Given the description of an element on the screen output the (x, y) to click on. 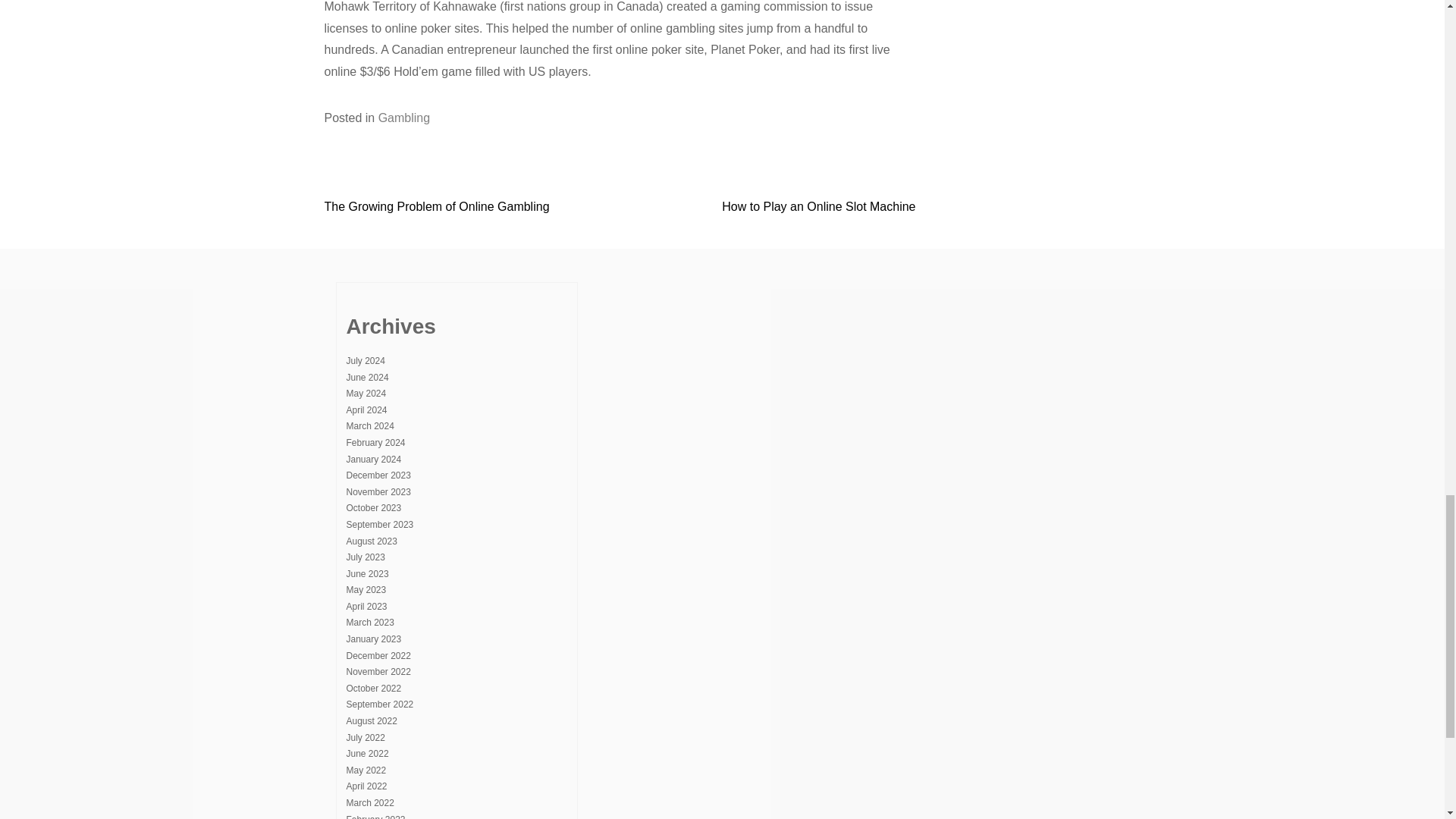
July 2022 (365, 737)
January 2023 (373, 638)
November 2023 (378, 491)
June 2022 (367, 753)
How to Play an Online Slot Machine (818, 205)
November 2022 (378, 671)
March 2023 (369, 622)
April 2023 (366, 606)
July 2024 (365, 360)
The Growing Problem of Online Gambling (437, 205)
February 2024 (375, 442)
June 2023 (367, 573)
January 2024 (373, 459)
May 2024 (365, 393)
August 2023 (371, 541)
